Given the description of an element on the screen output the (x, y) to click on. 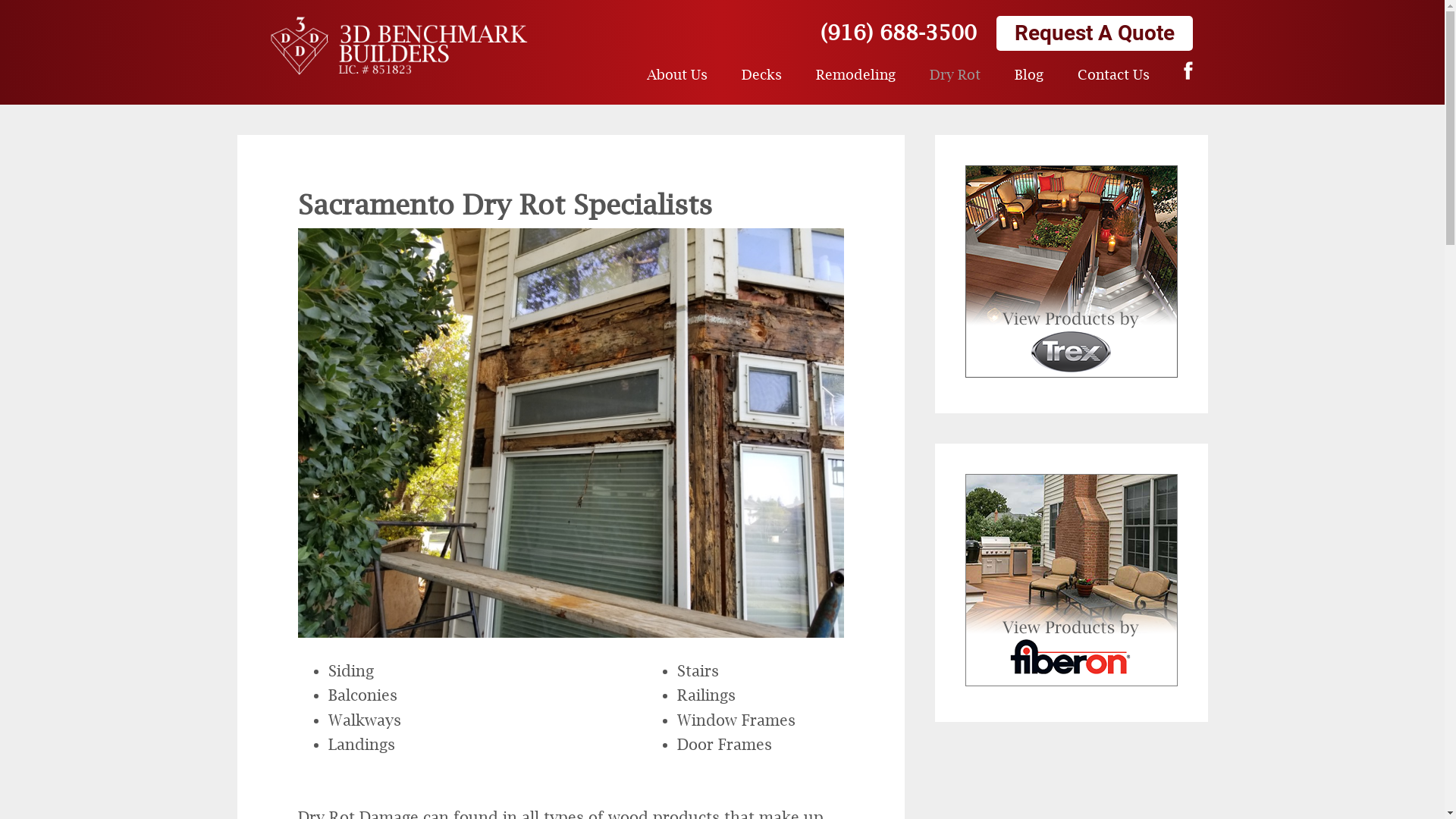
Remodeling Element type: text (855, 73)
Decks Element type: text (761, 73)
3D Benchmark Builders Element type: text (398, 45)
Request A Quote Element type: text (1094, 32)
(916) 688-3500 Element type: text (898, 31)
Contact Us Element type: text (1112, 73)
Skip to main content Element type: text (0, 0)
About Us Element type: text (675, 73)
Dry Rot Element type: text (954, 73)
Blog Element type: text (1028, 73)
